Given the description of an element on the screen output the (x, y) to click on. 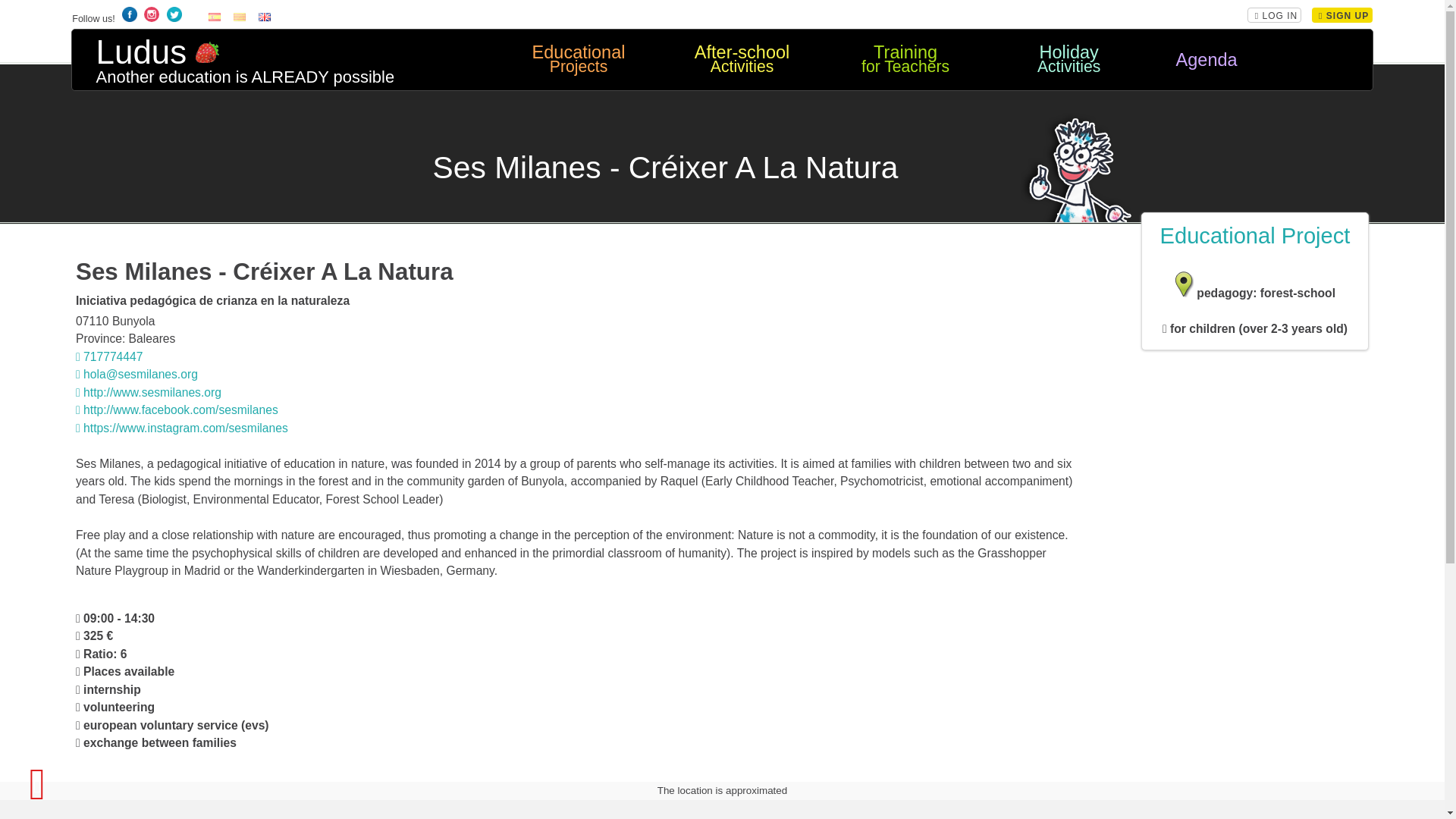
Play groups, childminders, schools, high schools (578, 59)
Sign Up (1343, 15)
Training for educators (905, 59)
LOG IN (1276, 15)
Workshops and afterschool activities (740, 59)
Agenda (1205, 60)
Castellano (578, 59)
Log In (214, 17)
